Given the description of an element on the screen output the (x, y) to click on. 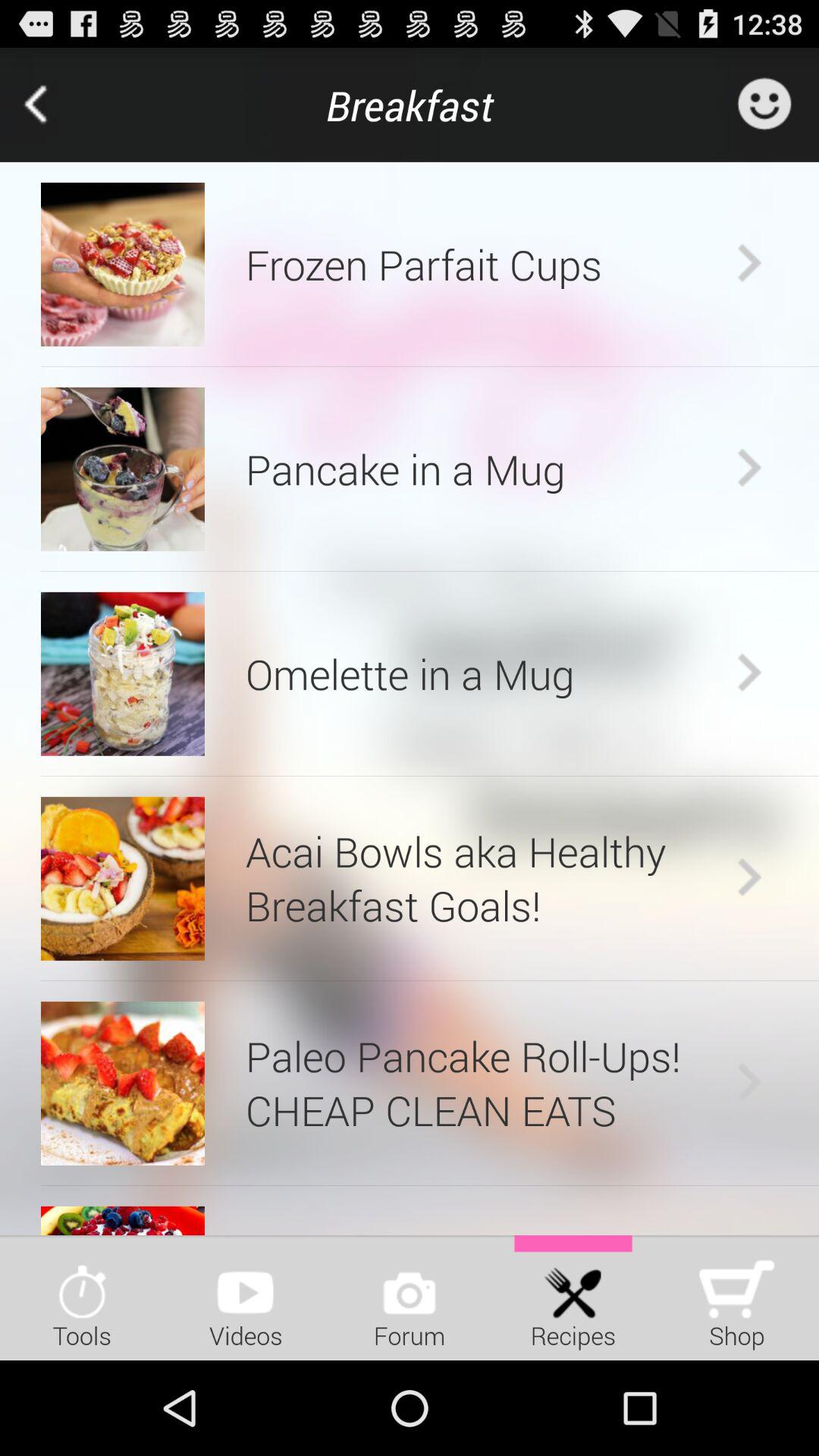
open the item above omelette in a (429, 571)
